Given the description of an element on the screen output the (x, y) to click on. 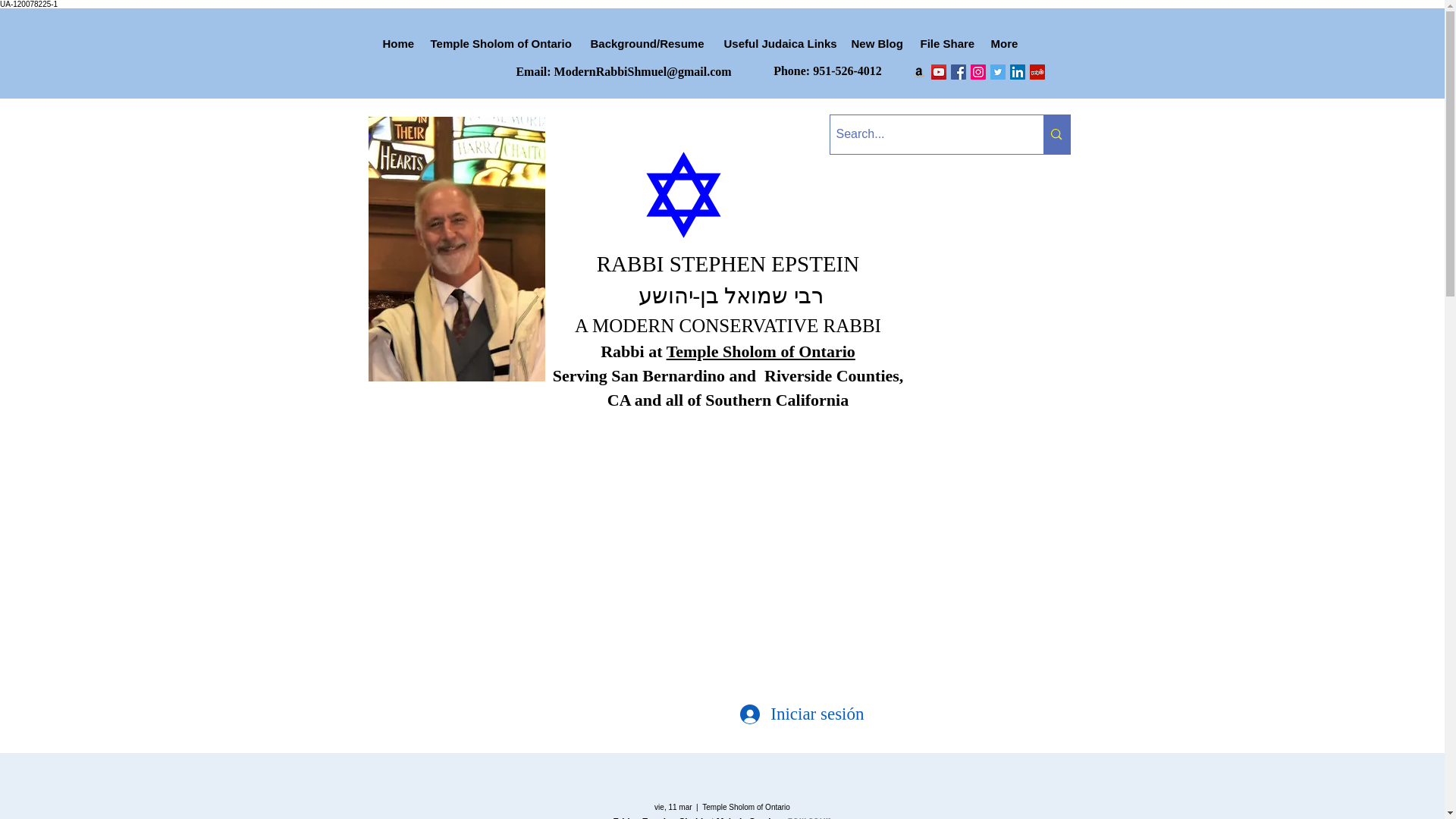
Temple Sholom of Ontario (761, 351)
Useful Judaica Links (779, 43)
New Blog (877, 43)
Temple Sholom of Ontario (503, 43)
File Share (948, 43)
Home (398, 43)
